Given the description of an element on the screen output the (x, y) to click on. 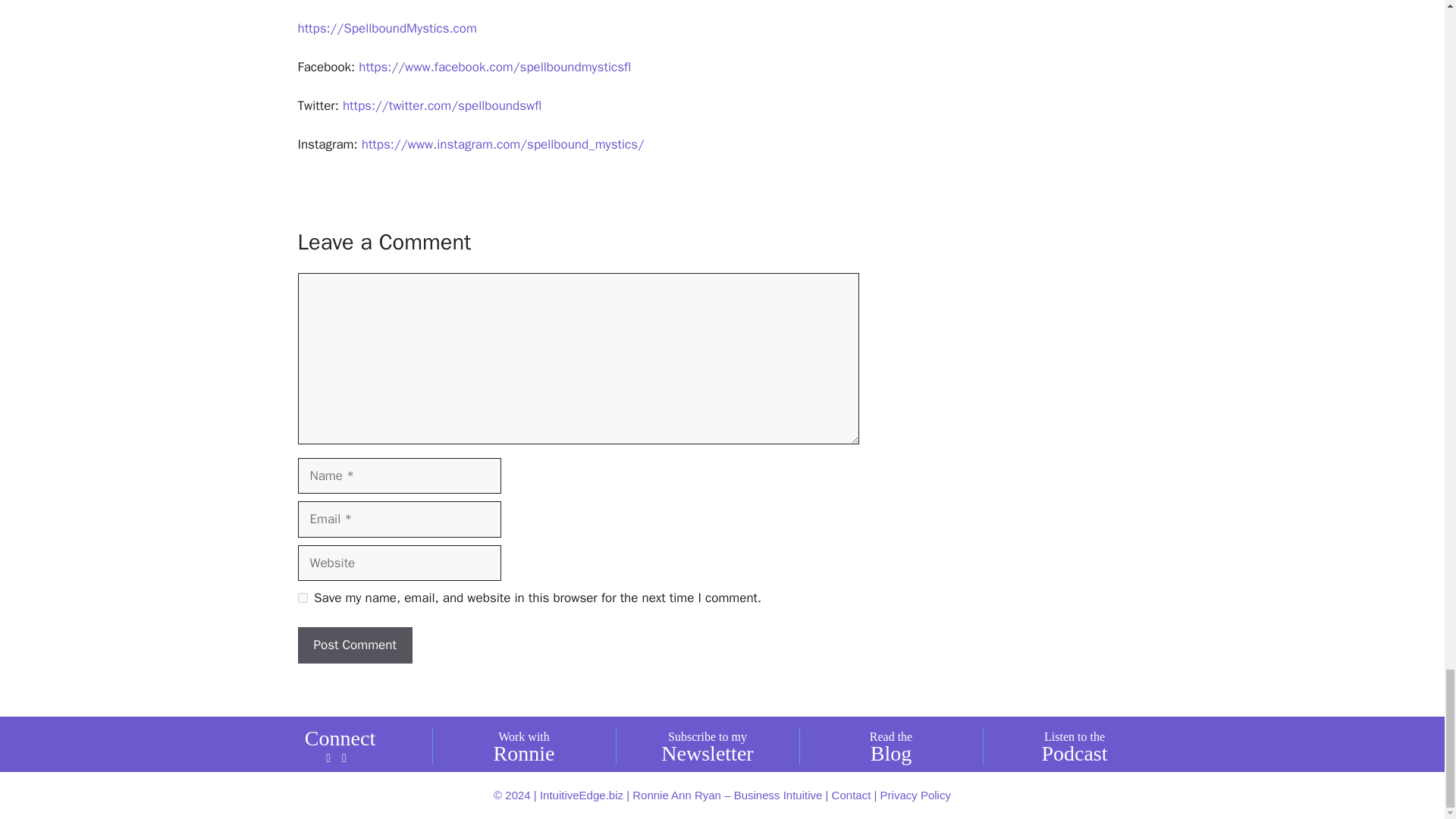
yes (302, 597)
Post Comment (354, 645)
